Given the description of an element on the screen output the (x, y) to click on. 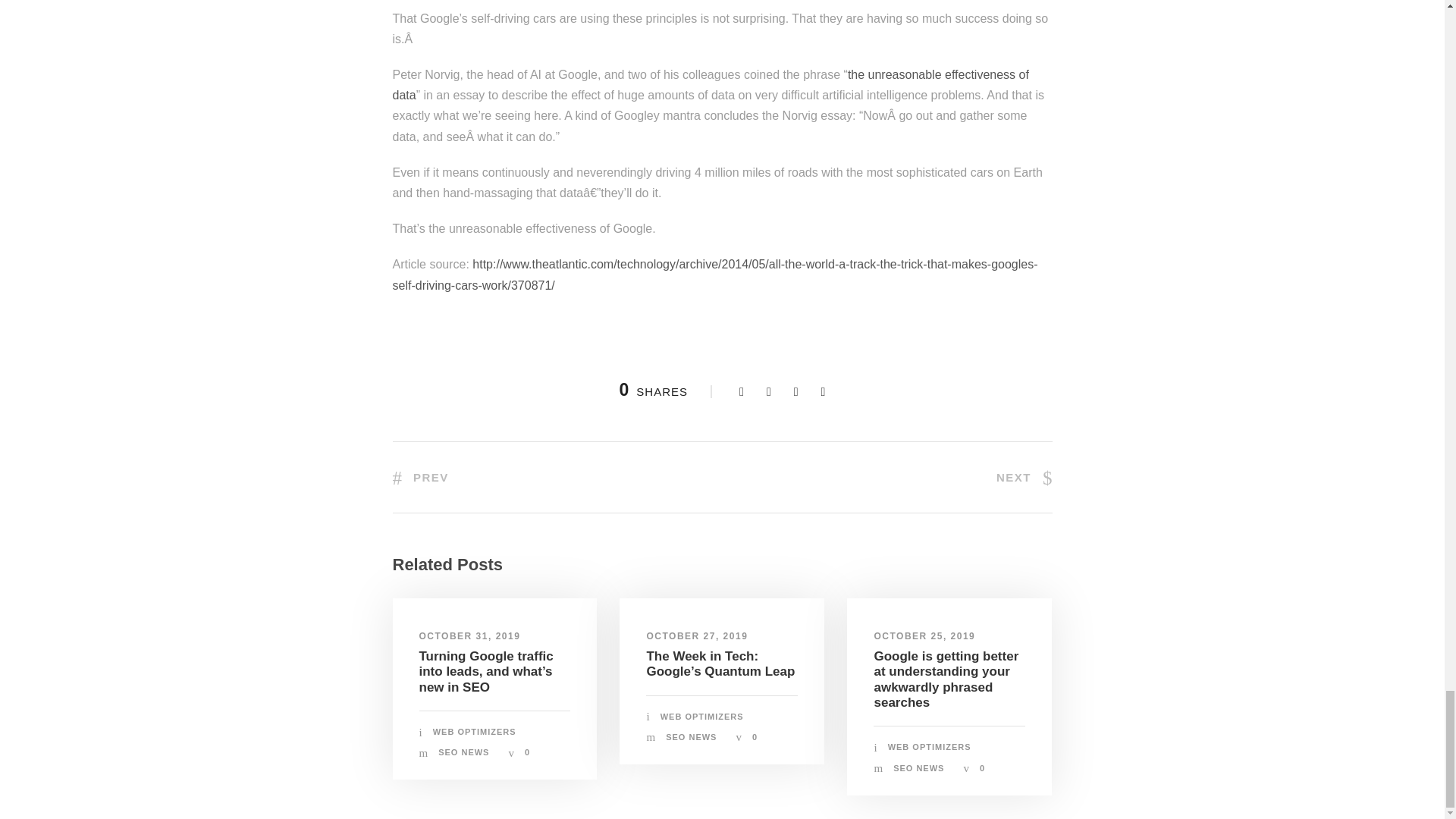
OCTOBER 31, 2019 (469, 634)
the unreasonable effectiveness of data (711, 84)
Posts by Web Optimizers (929, 746)
PREV (420, 477)
Posts by Web Optimizers (702, 716)
Posts by Web Optimizers (474, 731)
WEB OPTIMIZERS (474, 731)
NEXT (1023, 477)
